Given the description of an element on the screen output the (x, y) to click on. 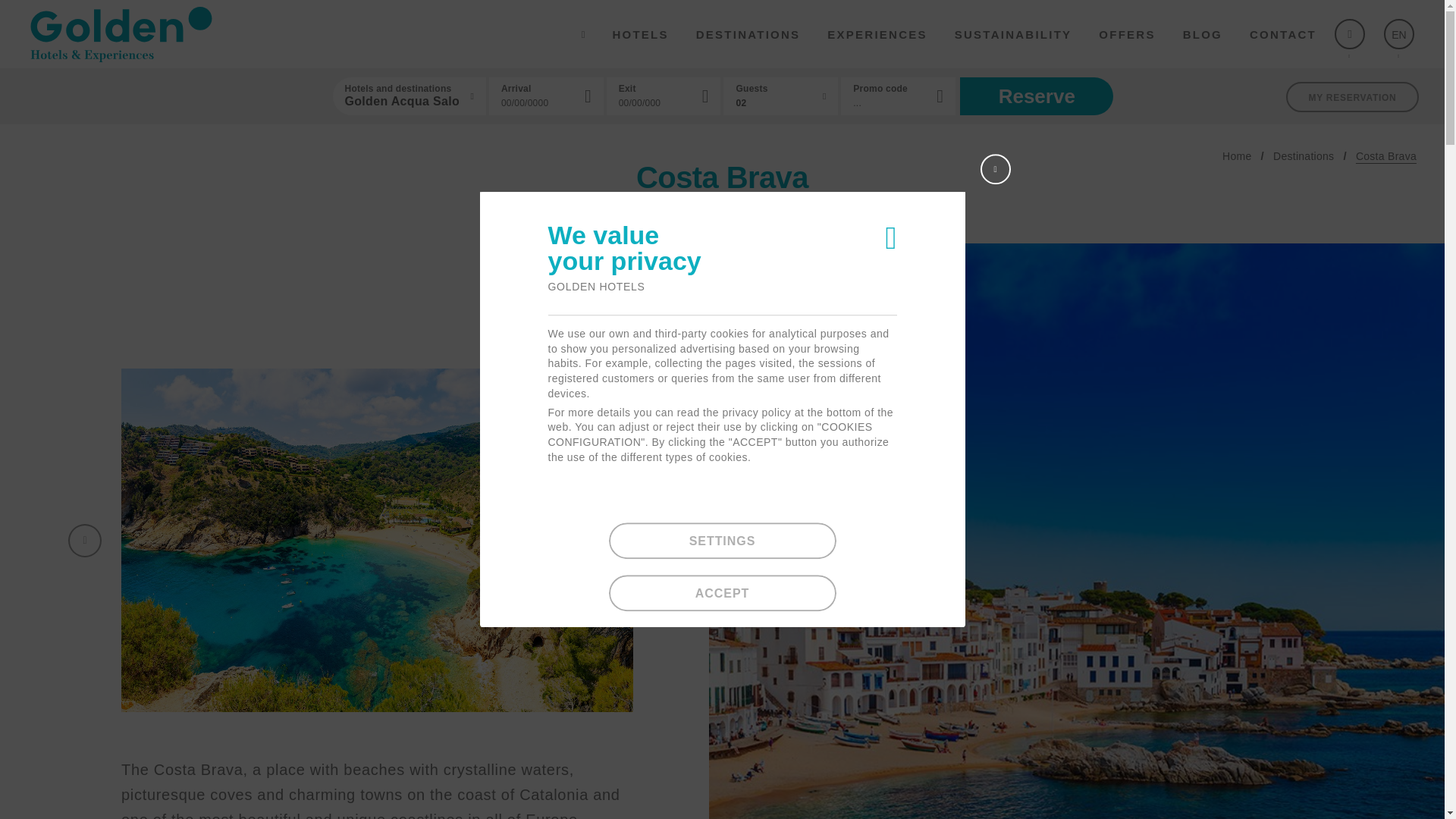
HOTELS (639, 34)
DESTINATIONS (747, 34)
SUSTAINABILITY (1013, 34)
BLOG (1202, 34)
HOME (582, 33)
Reserve (1036, 95)
CONTACT (1282, 34)
OFFERS (1126, 34)
